Given the description of an element on the screen output the (x, y) to click on. 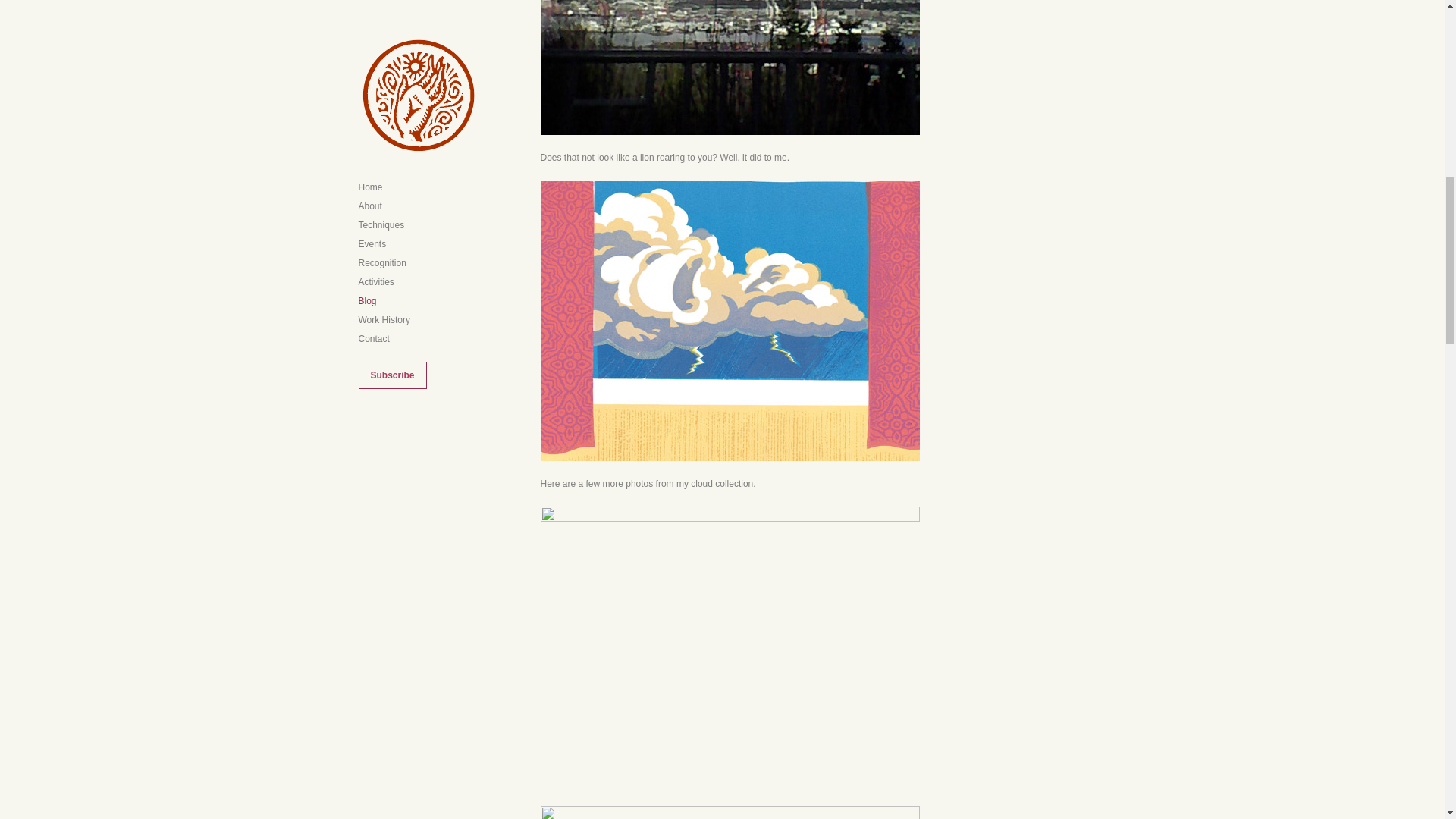
DT4-5 (729, 320)
DSCN0599 (729, 812)
DSCN0606 (729, 648)
